Given the description of an element on the screen output the (x, y) to click on. 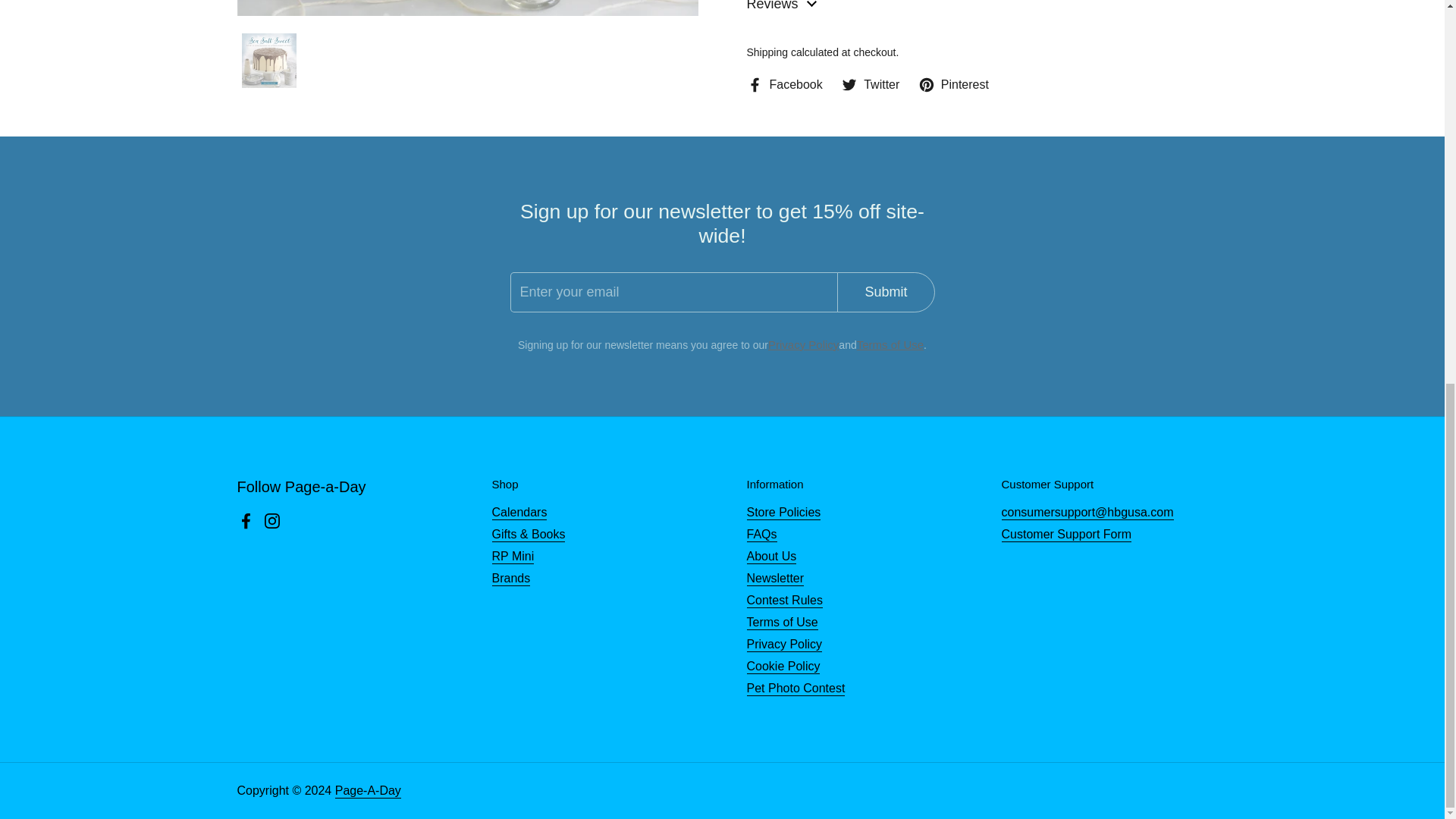
Share on pinterest (953, 84)
Share on twitter (870, 84)
Share on facebook (783, 84)
